Given the description of an element on the screen output the (x, y) to click on. 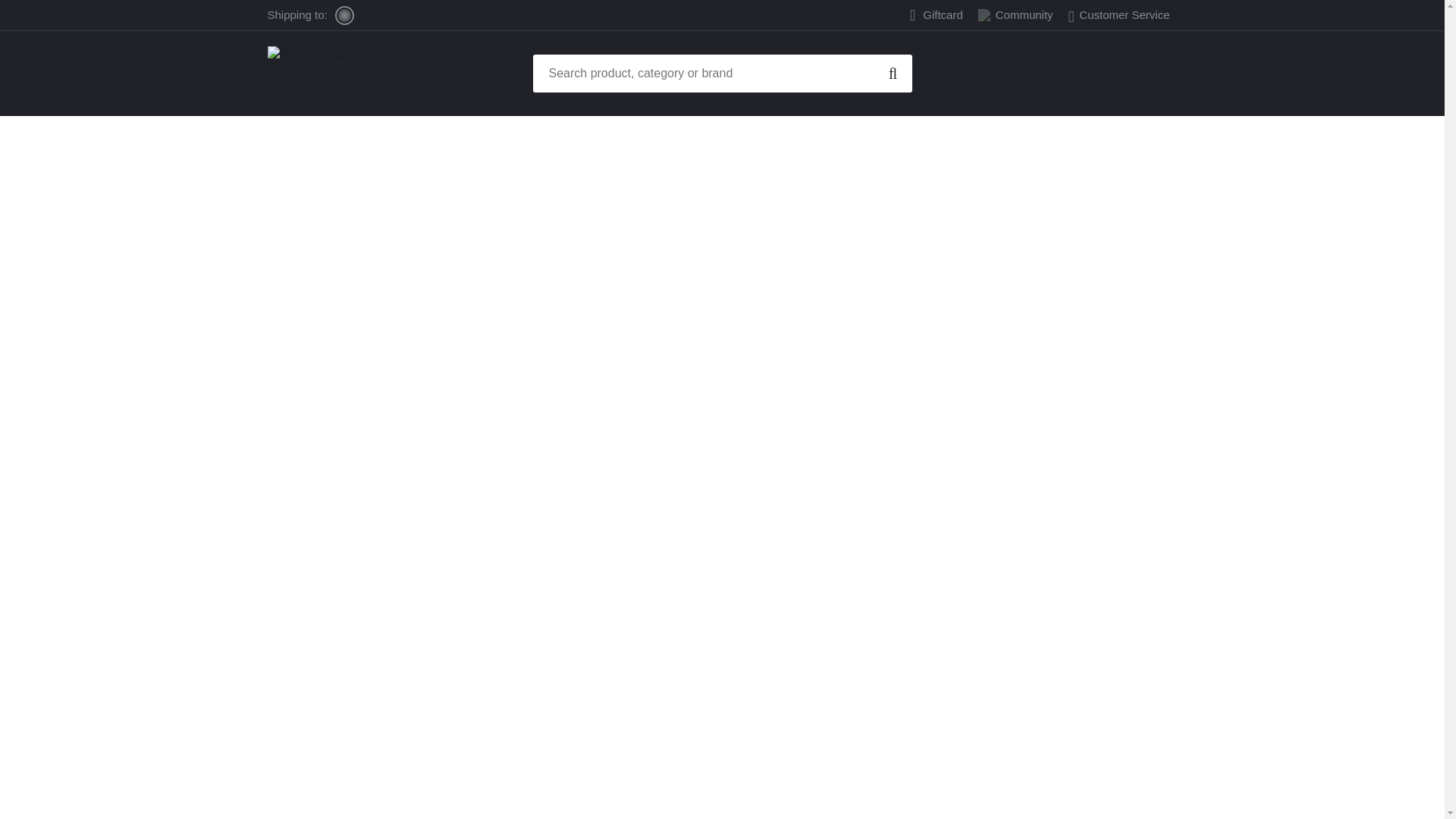
Community (1016, 14)
Giftcard (943, 15)
Customer Service (1119, 14)
Giftcard (943, 15)
MaxGaming (350, 72)
